Given the description of an element on the screen output the (x, y) to click on. 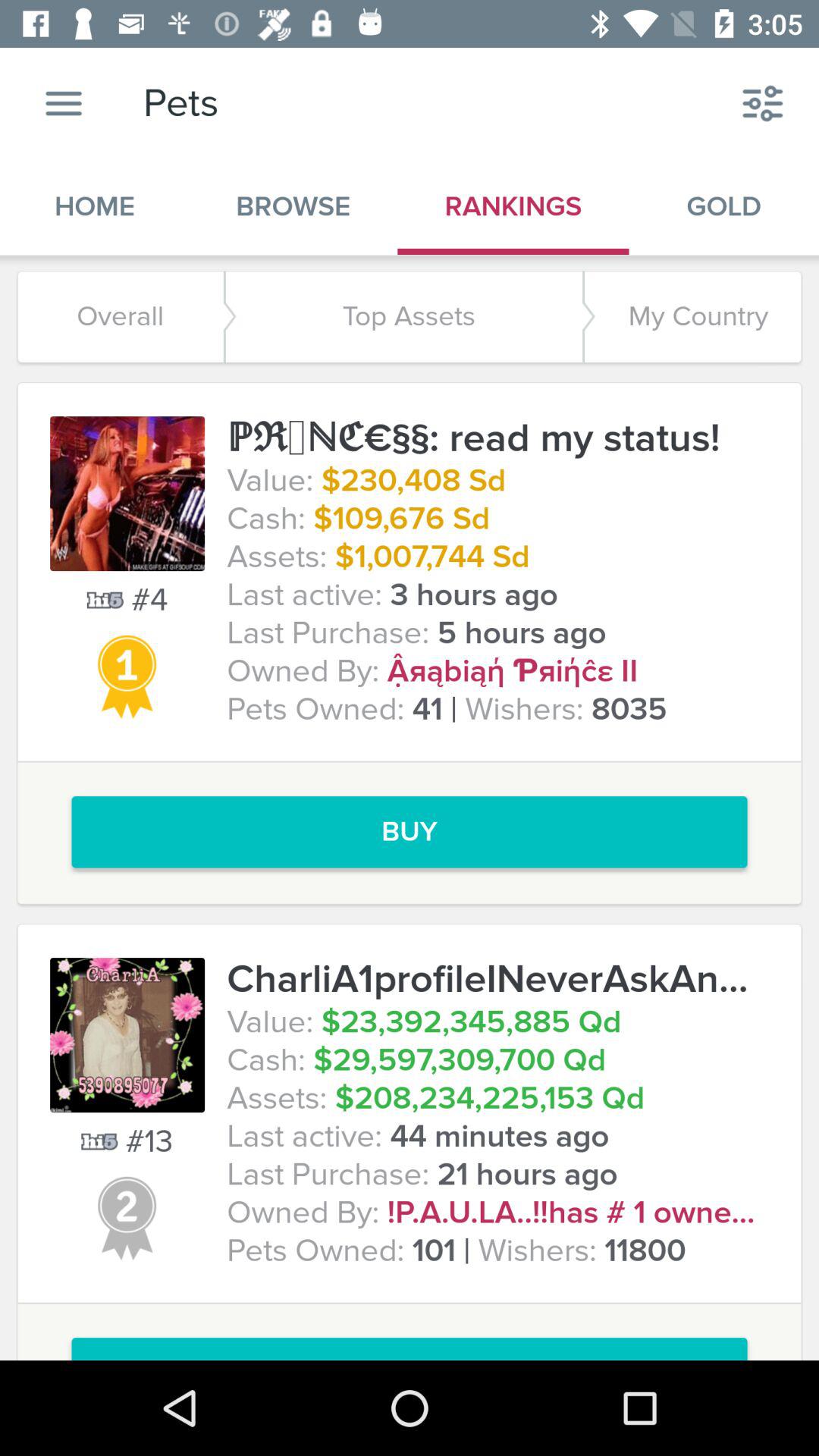
open menu (63, 103)
